Given the description of an element on the screen output the (x, y) to click on. 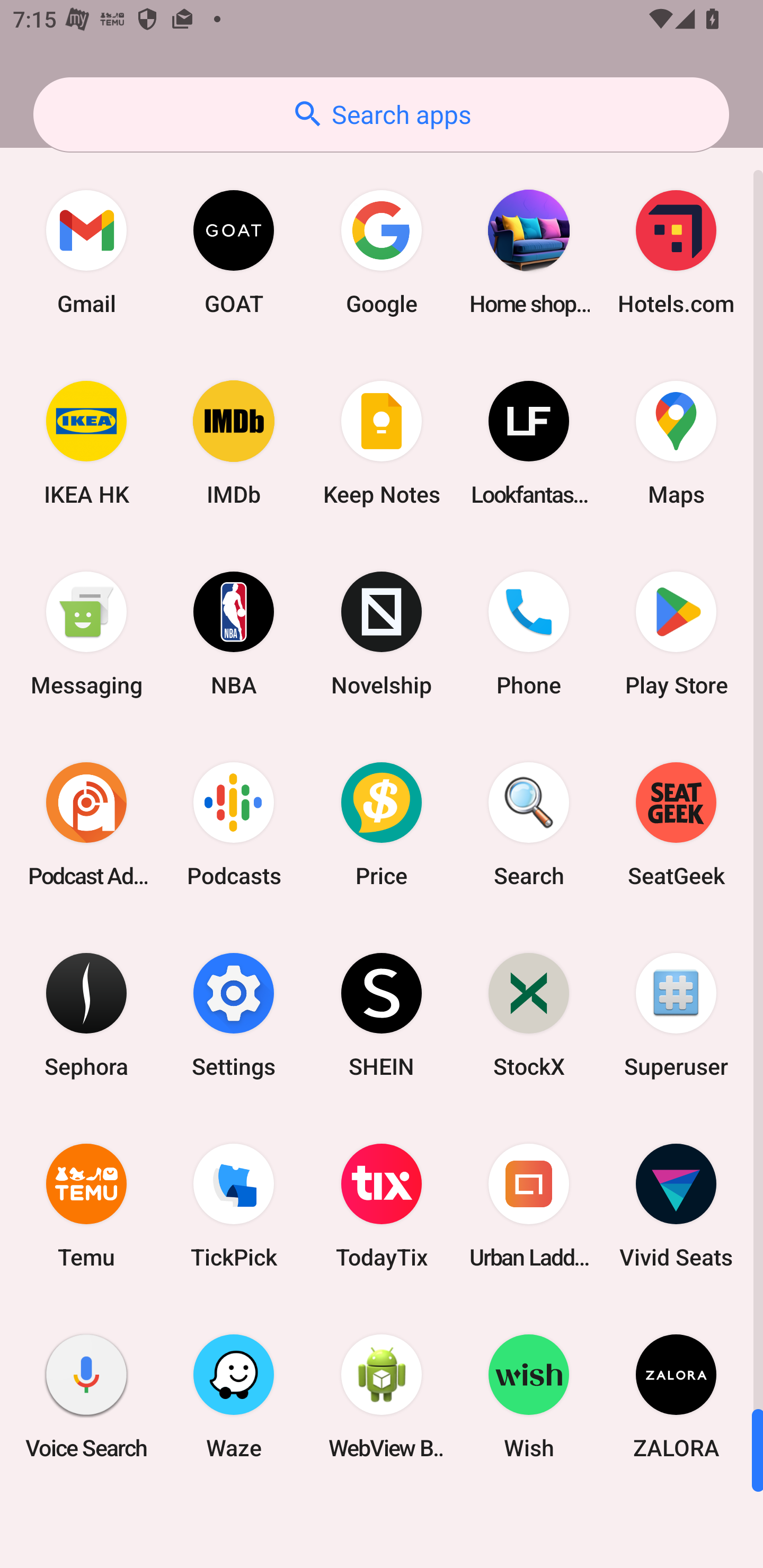
  Search apps (381, 114)
Gmail (86, 252)
GOAT (233, 252)
Google (381, 252)
Home shopping (528, 252)
Hotels.com (676, 252)
IKEA HK (86, 442)
IMDb (233, 442)
Keep Notes (381, 442)
Lookfantastic (528, 442)
Maps (676, 442)
Messaging (86, 633)
NBA (233, 633)
Novelship (381, 633)
Phone (528, 633)
Play Store (676, 633)
Podcast Addict (86, 823)
Podcasts (233, 823)
Price (381, 823)
Search (528, 823)
SeatGeek (676, 823)
Sephora (86, 1014)
Settings (233, 1014)
SHEIN (381, 1014)
StockX (528, 1014)
Superuser (676, 1014)
Temu (86, 1205)
TickPick (233, 1205)
TodayTix (381, 1205)
Urban Ladder (528, 1205)
Vivid Seats (676, 1205)
Voice Search (86, 1396)
Waze (233, 1396)
WebView Browser Tester (381, 1396)
Wish (528, 1396)
ZALORA (676, 1396)
